Given the description of an element on the screen output the (x, y) to click on. 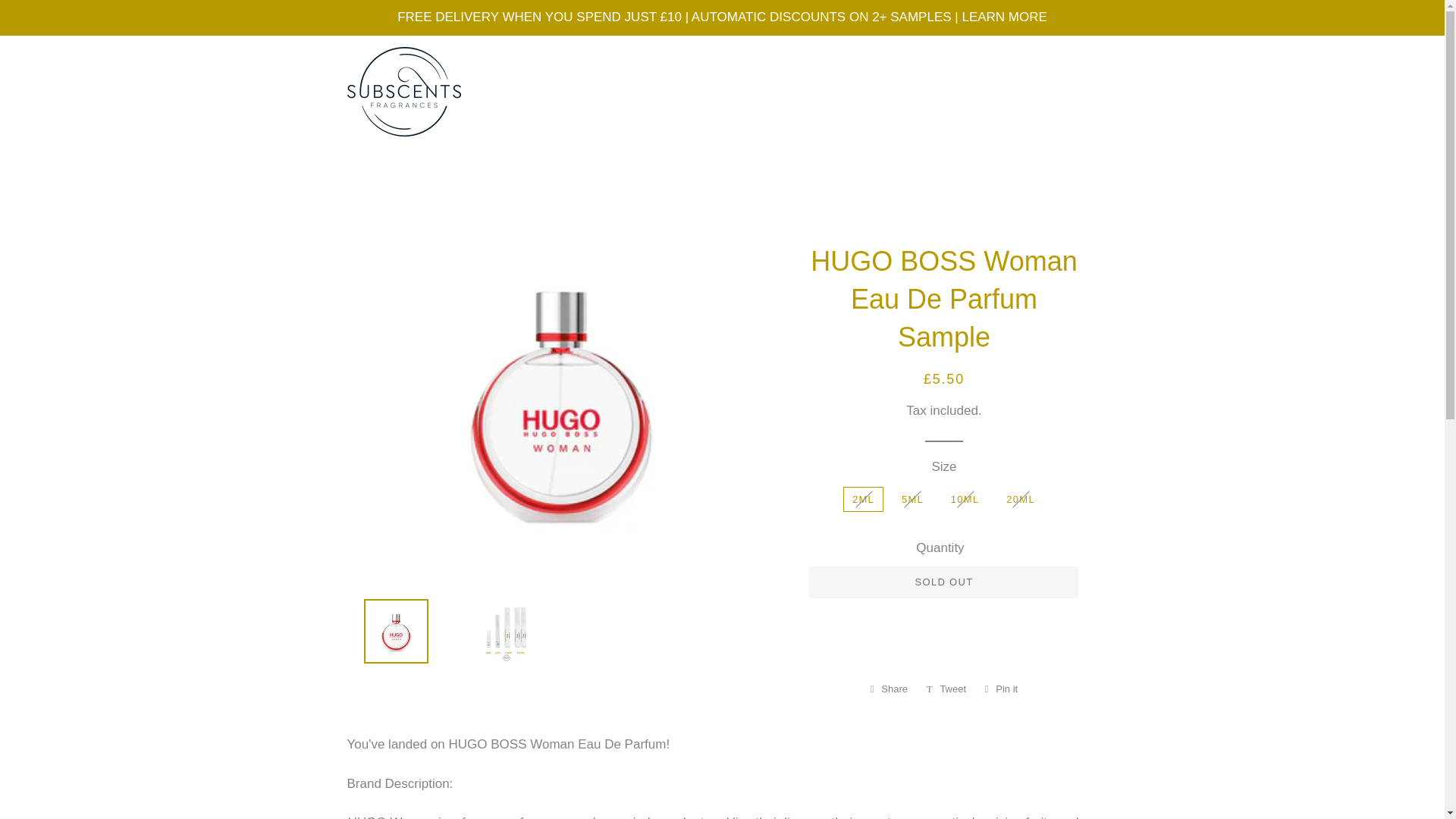
20ml (889, 689)
Tweet on Twitter (943, 582)
2ml (946, 689)
Share on Facebook (1000, 689)
10ml (889, 689)
